Given the description of an element on the screen output the (x, y) to click on. 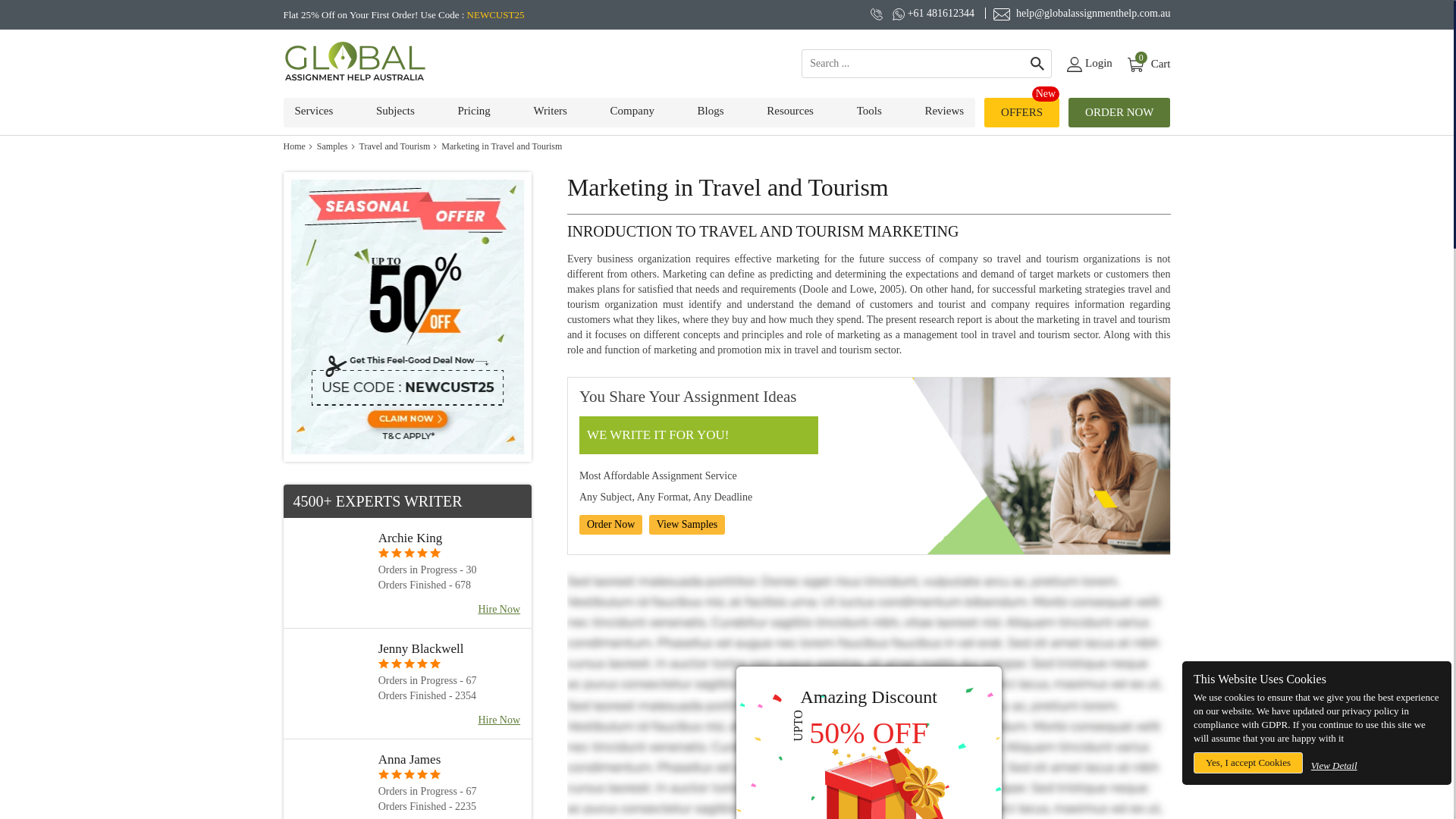
Yes, I accept Cookies (1148, 64)
Login (1248, 762)
